Given the description of an element on the screen output the (x, y) to click on. 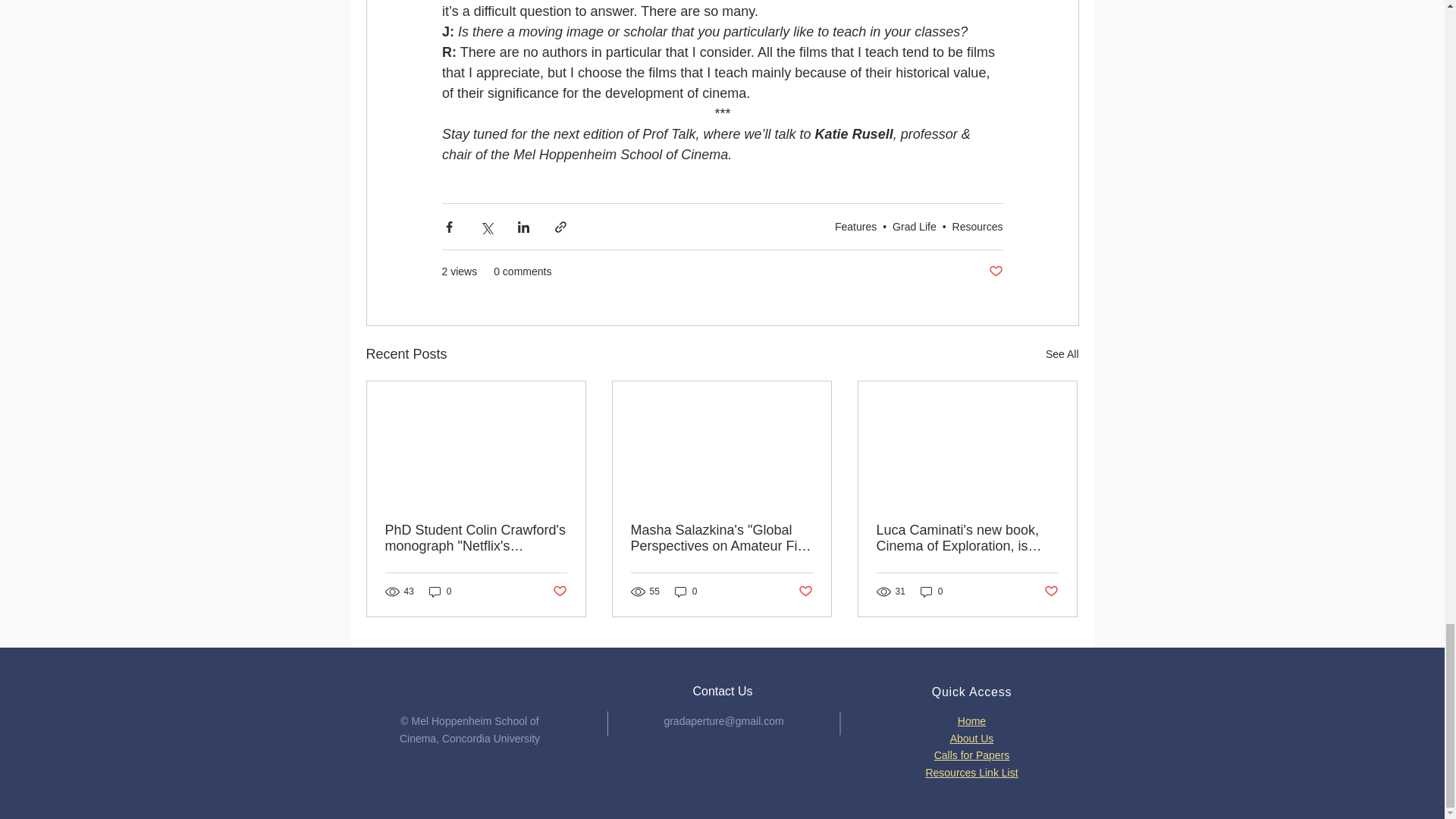
Resources (977, 226)
Grad Life (914, 226)
Features (855, 226)
